Given the description of an element on the screen output the (x, y) to click on. 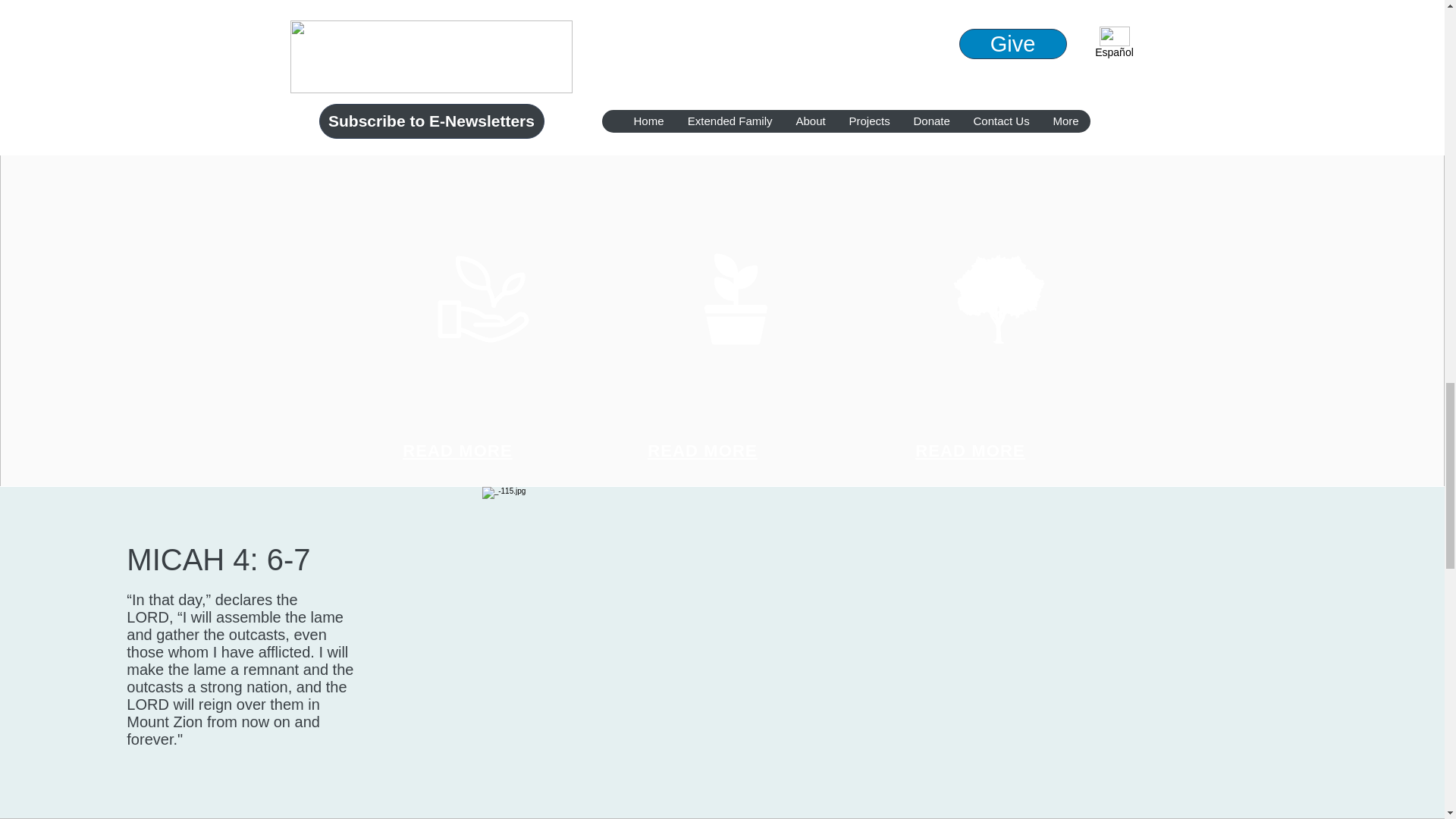
READ MORE (457, 450)
READ MORE (702, 450)
External Vimeo (723, 50)
READ MORE (970, 450)
